Given the description of an element on the screen output the (x, y) to click on. 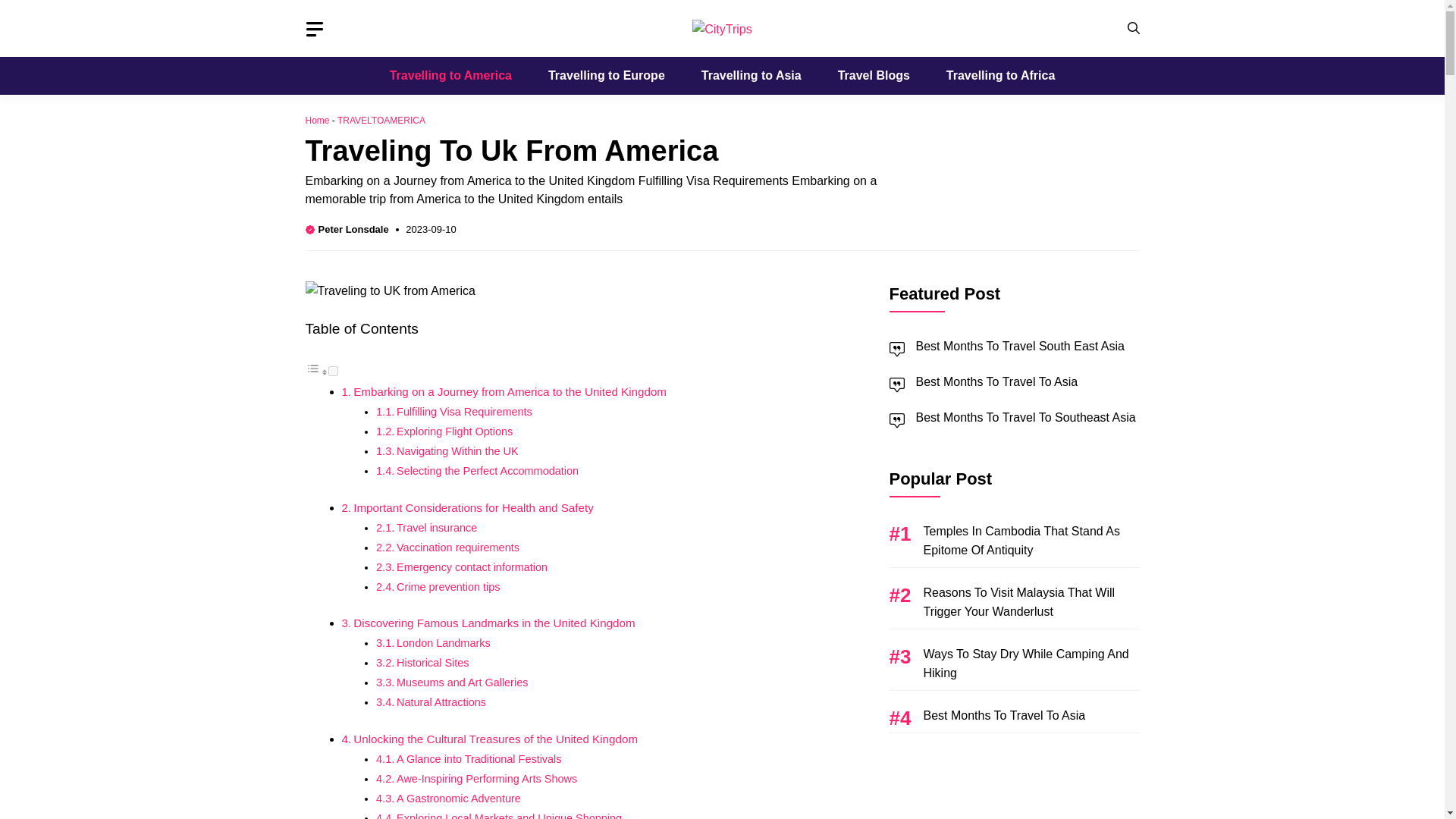
 Fulfilling Visa Requirements (464, 411)
Fulfilling Visa Requirements (464, 411)
on (332, 370)
Natural Attractions (441, 702)
Crime prevention tips (447, 586)
Emergency contact information (471, 567)
Awe-Inspiring Performing Arts Shows (486, 778)
TRAVELTOAMERICA (381, 120)
Historical Sites (432, 662)
Travel insurance (436, 527)
Selecting the Perfect Accommodation (487, 470)
 Travel insurance (436, 527)
Traveling To Uk From America 7 (389, 291)
 Navigating Within the UK (457, 451)
Important Considerations for Health and Safety (473, 507)
